Given the description of an element on the screen output the (x, y) to click on. 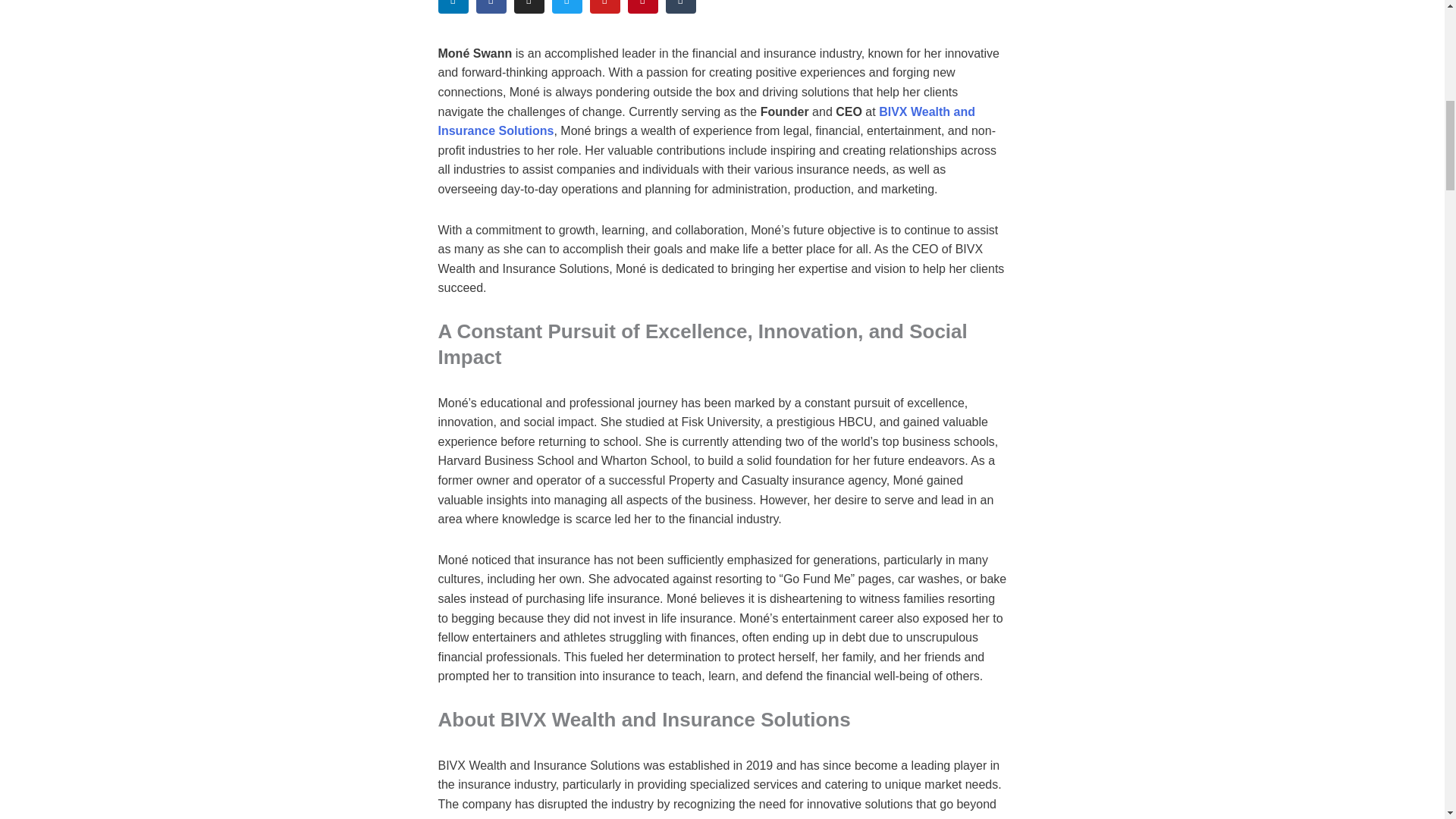
Instagram (528, 6)
Pinterest (642, 6)
Linkedin (453, 6)
Tumblr (680, 6)
BIVX Wealth and Insurance Solutions (706, 121)
Twitter (566, 6)
Facebook (491, 6)
Youtube (604, 6)
